Given the description of an element on the screen output the (x, y) to click on. 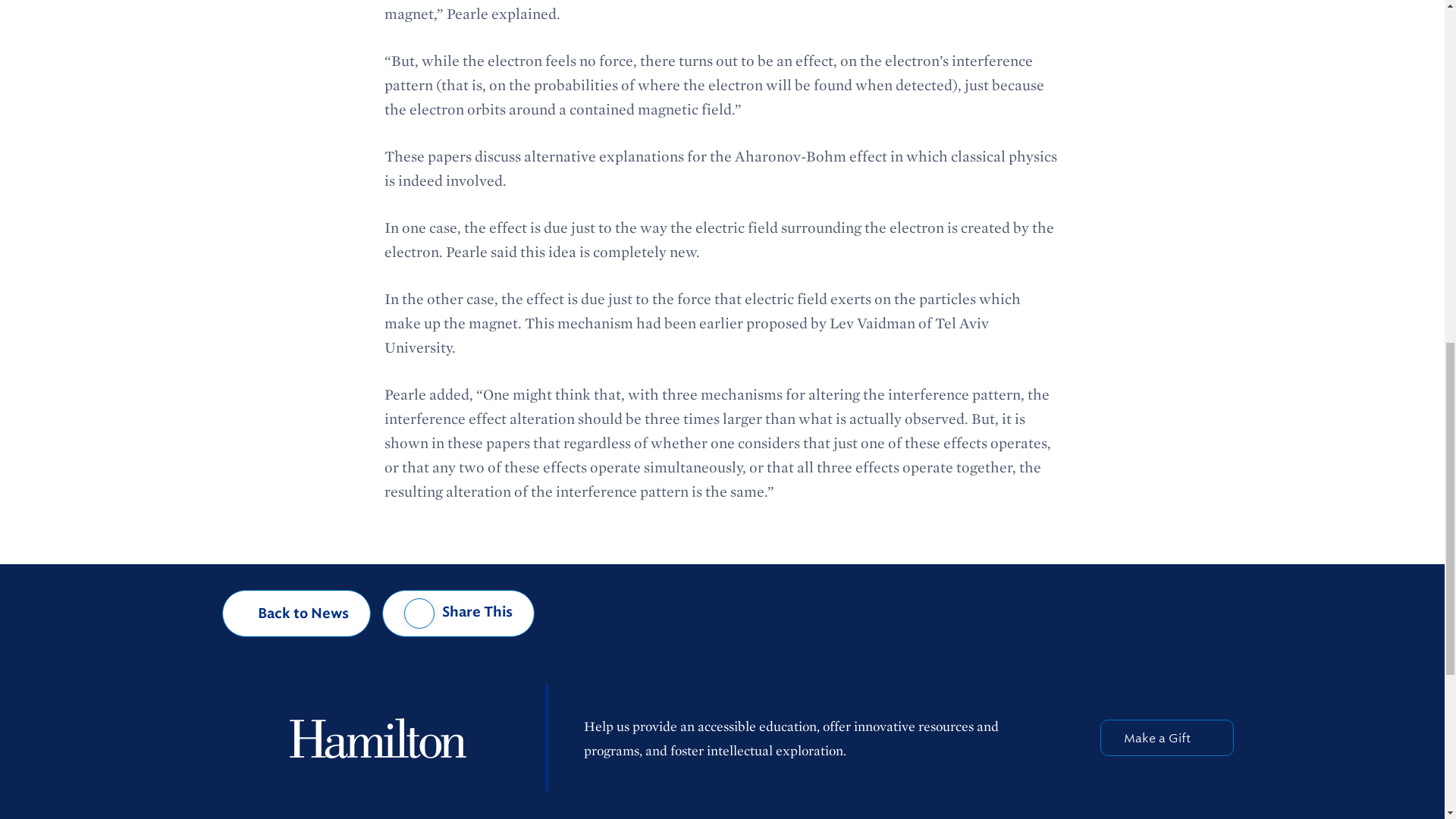
Back to News (296, 613)
Make a Gift (1166, 737)
Share This (457, 613)
